Given the description of an element on the screen output the (x, y) to click on. 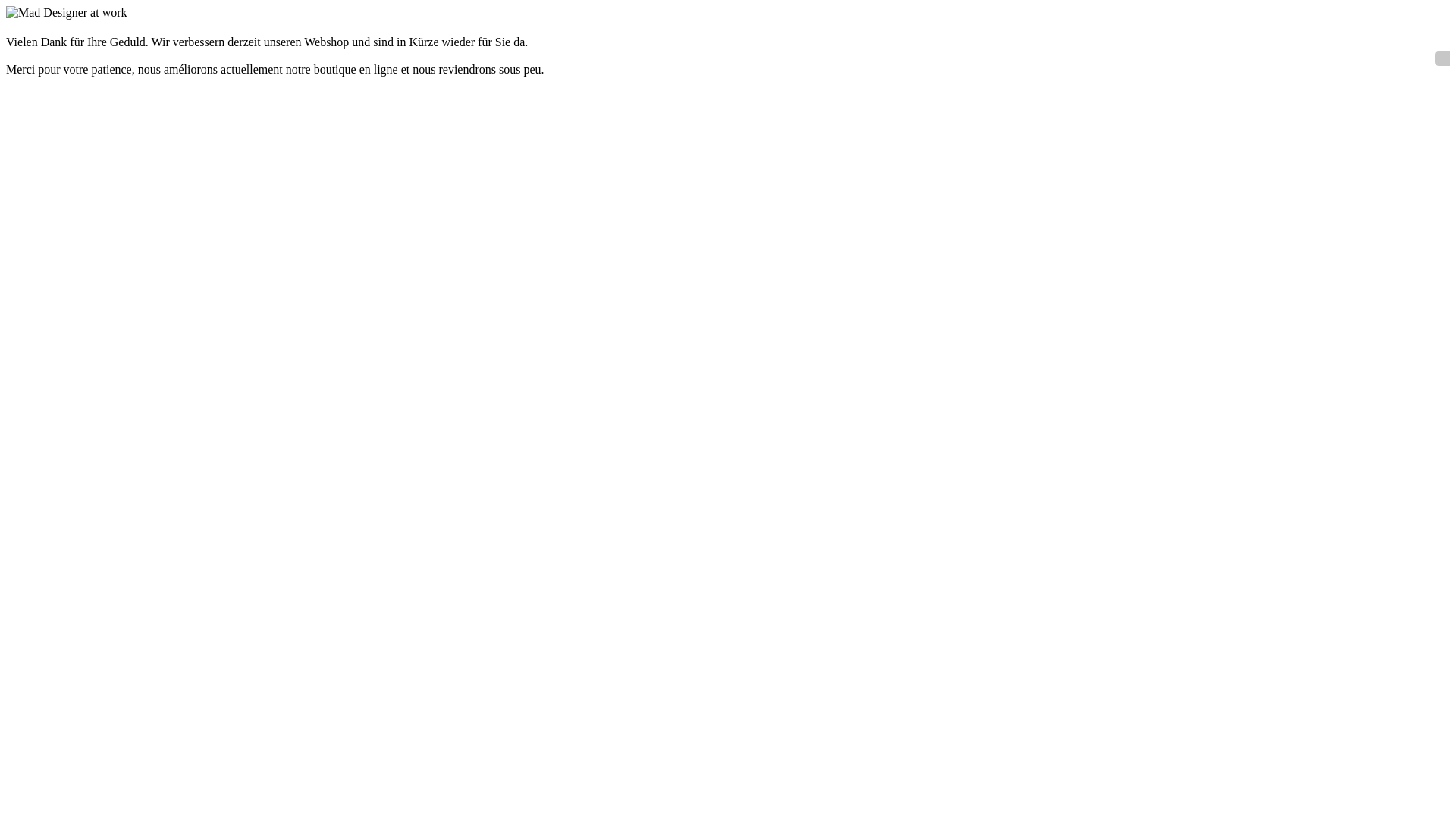
Mad Designer at work Element type: hover (66, 12)
